Given the description of an element on the screen output the (x, y) to click on. 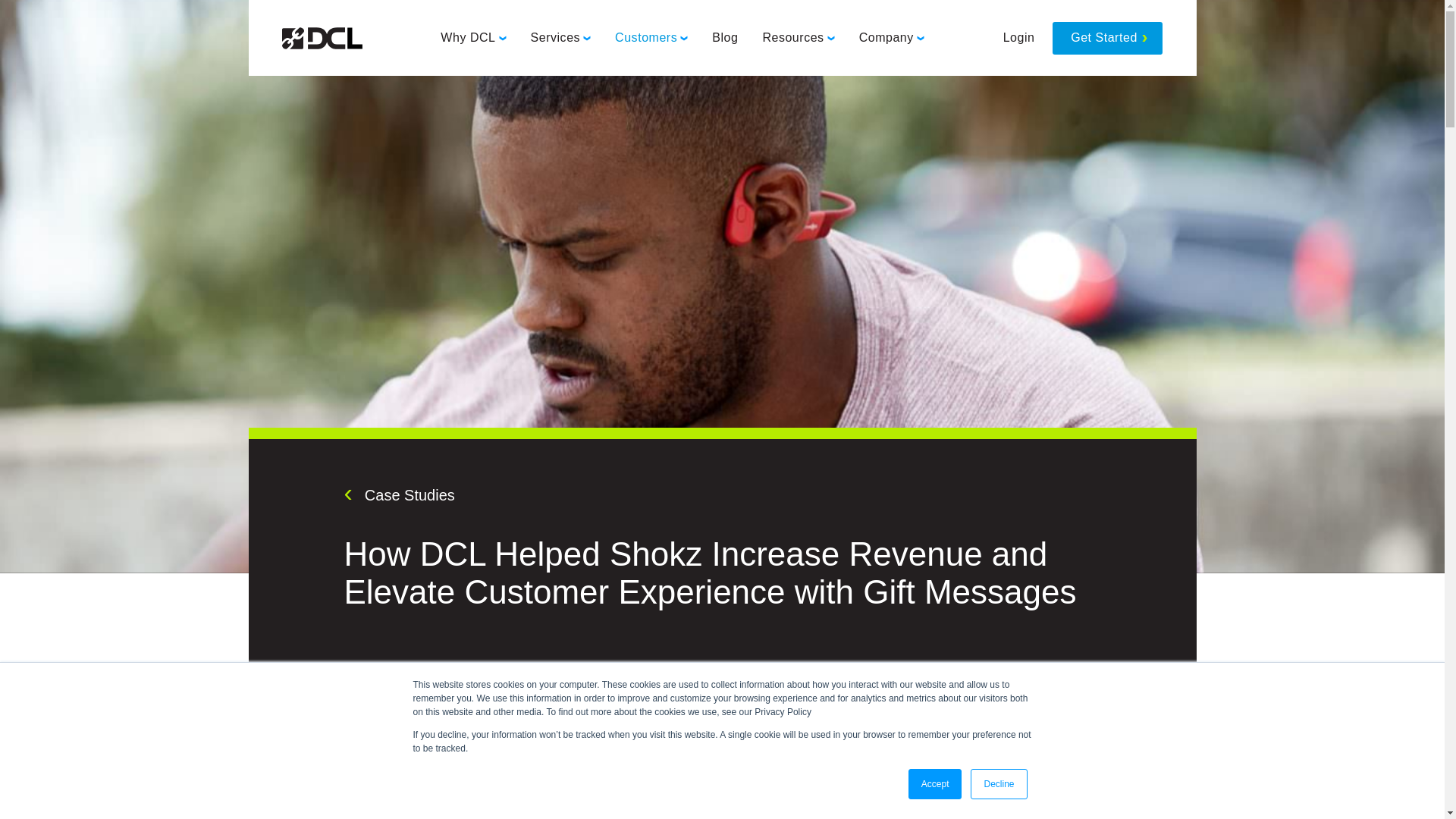
bone conduction technology (807, 813)
Return to homepage (322, 38)
Decline (998, 784)
Get Started (1106, 37)
Services (560, 37)
Resources (797, 37)
Login (1019, 37)
Accept (935, 784)
Company (891, 37)
Case Studies (398, 494)
Customers (650, 37)
Blog (725, 37)
Why DCL (473, 37)
Shokz (460, 797)
